Given the description of an element on the screen output the (x, y) to click on. 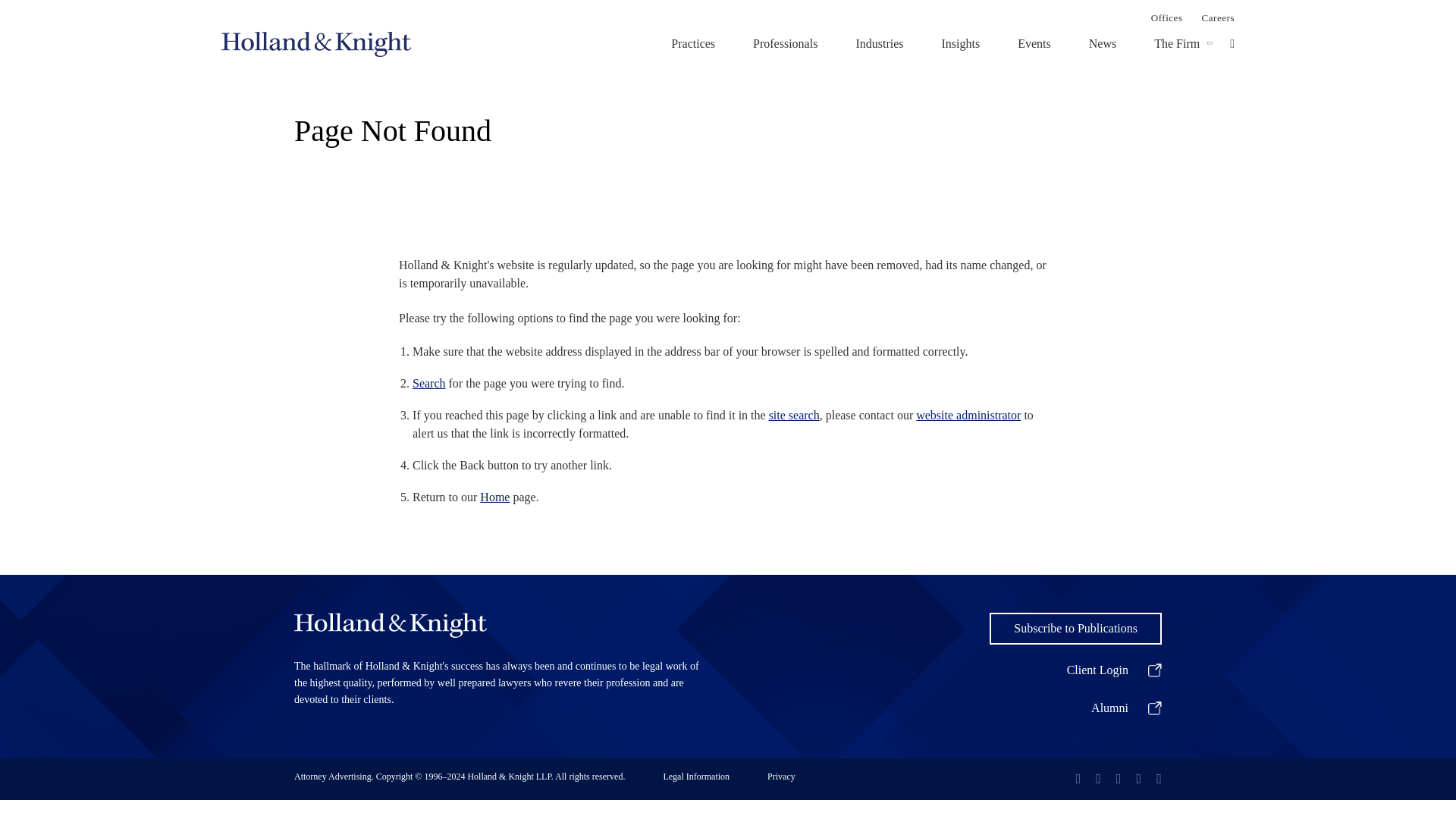
Practices (692, 42)
Subscribe to Publications (1075, 628)
Legal Information (695, 778)
Offices (1166, 16)
Events (1034, 42)
Search (428, 382)
site search (793, 414)
Alumni (1075, 708)
News (1102, 42)
The Firm (1176, 43)
